Given the description of an element on the screen output the (x, y) to click on. 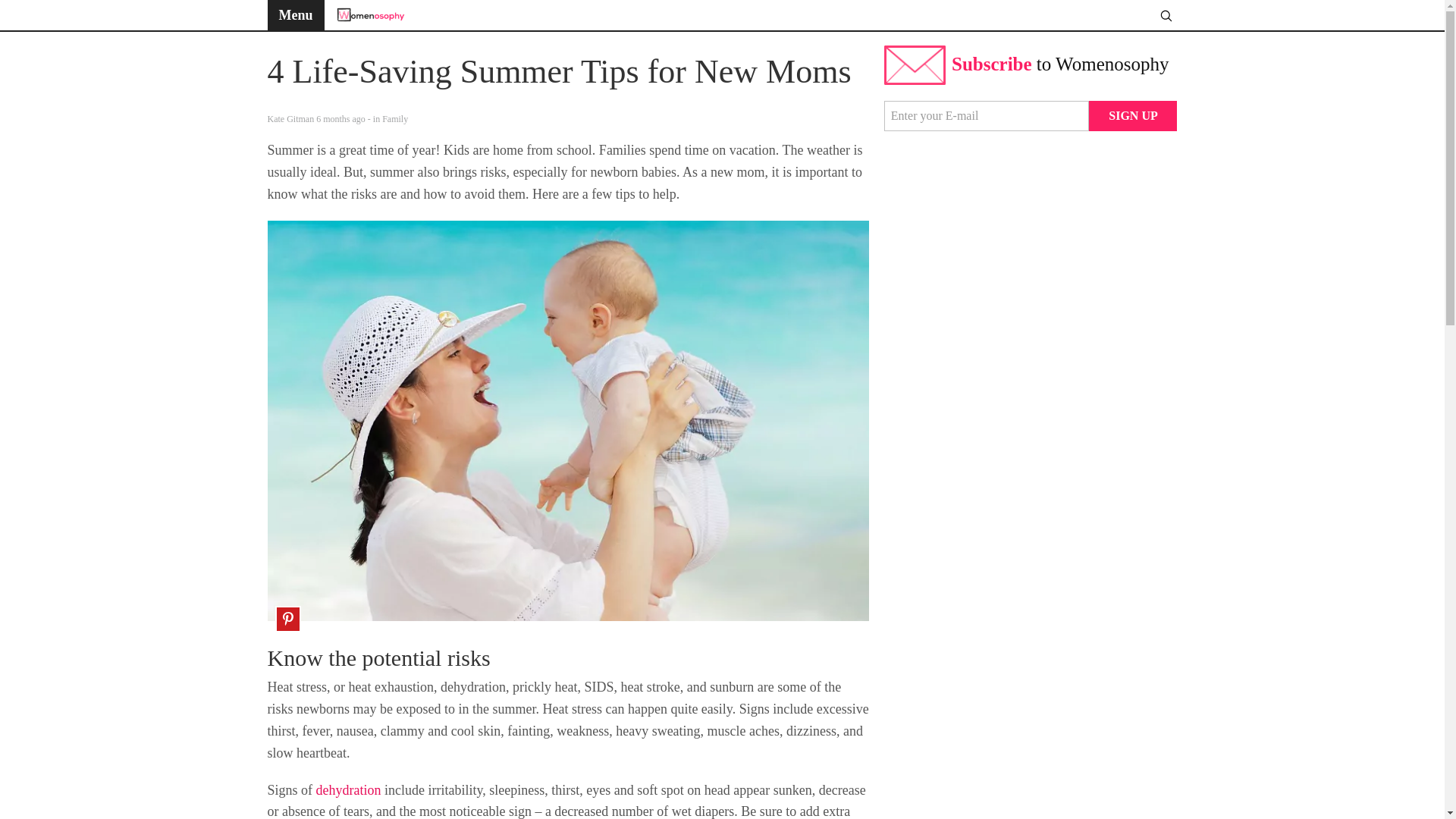
Enter your E-mail (986, 115)
dehydration (348, 789)
Family (394, 118)
SIGN UP (1132, 115)
SIGN UP (1132, 115)
Menu (294, 14)
